Given the description of an element on the screen output the (x, y) to click on. 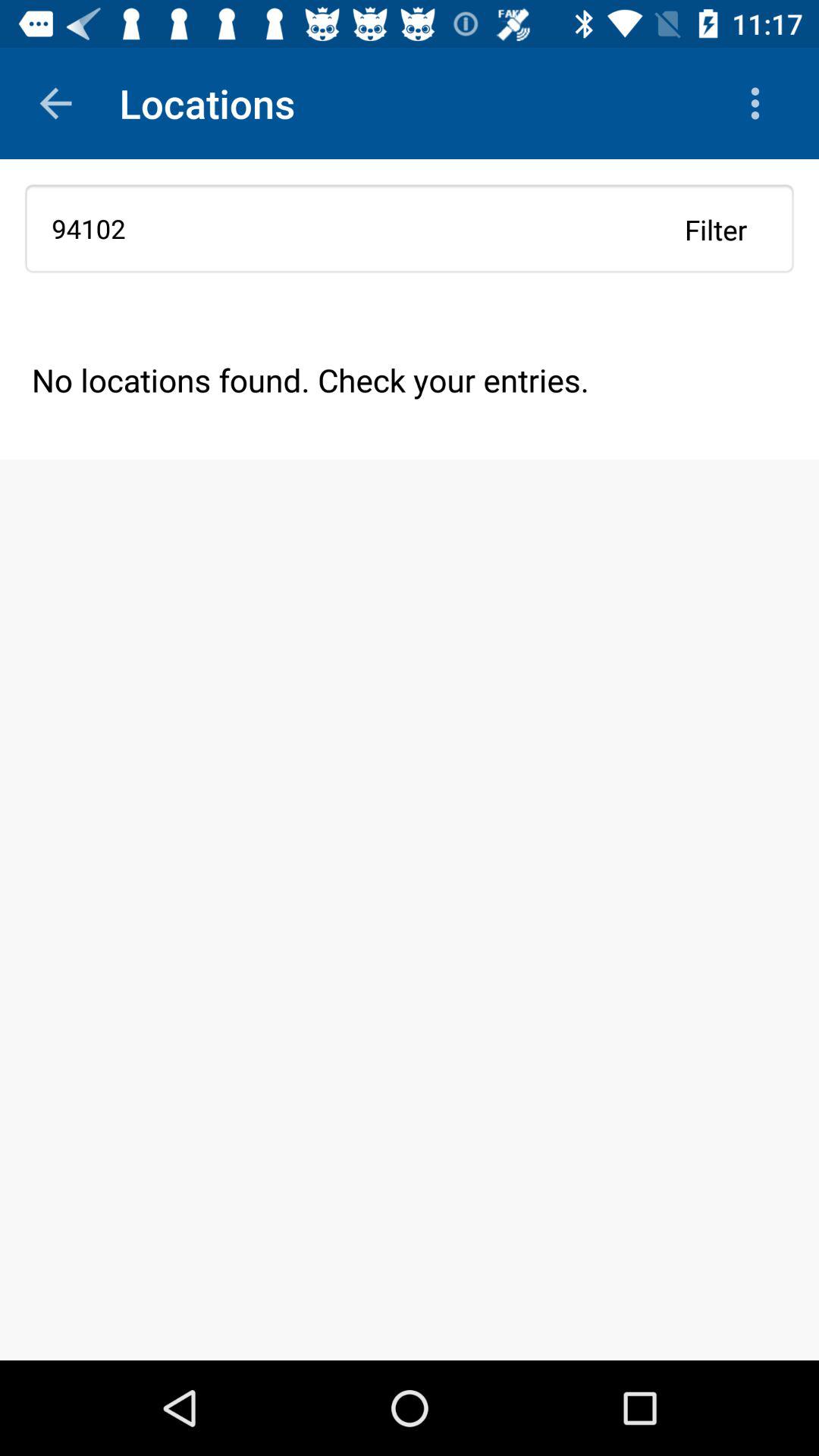
select icon below filter item (409, 379)
